Given the description of an element on the screen output the (x, y) to click on. 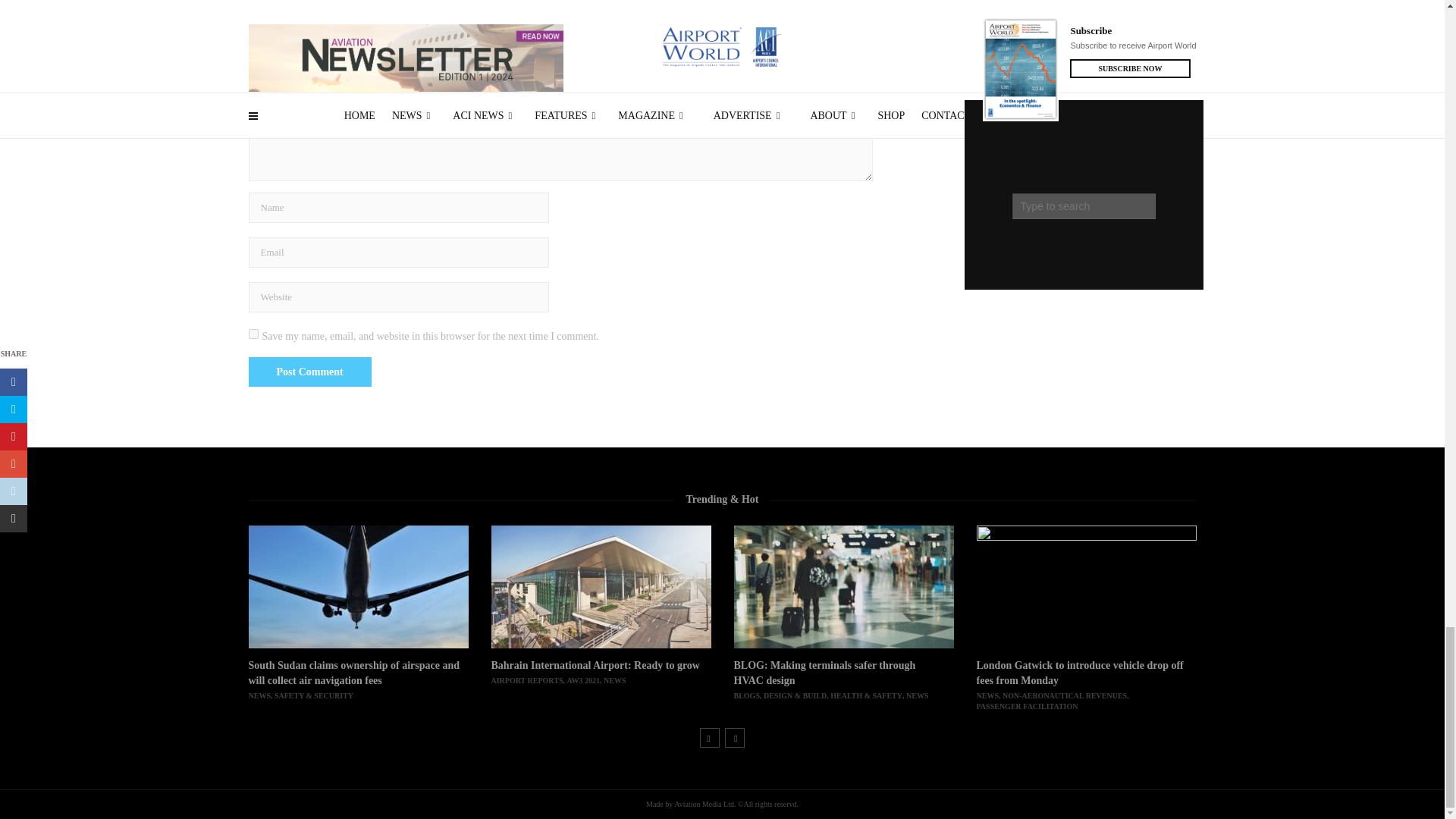
yes (253, 334)
Post Comment (309, 371)
